Given the description of an element on the screen output the (x, y) to click on. 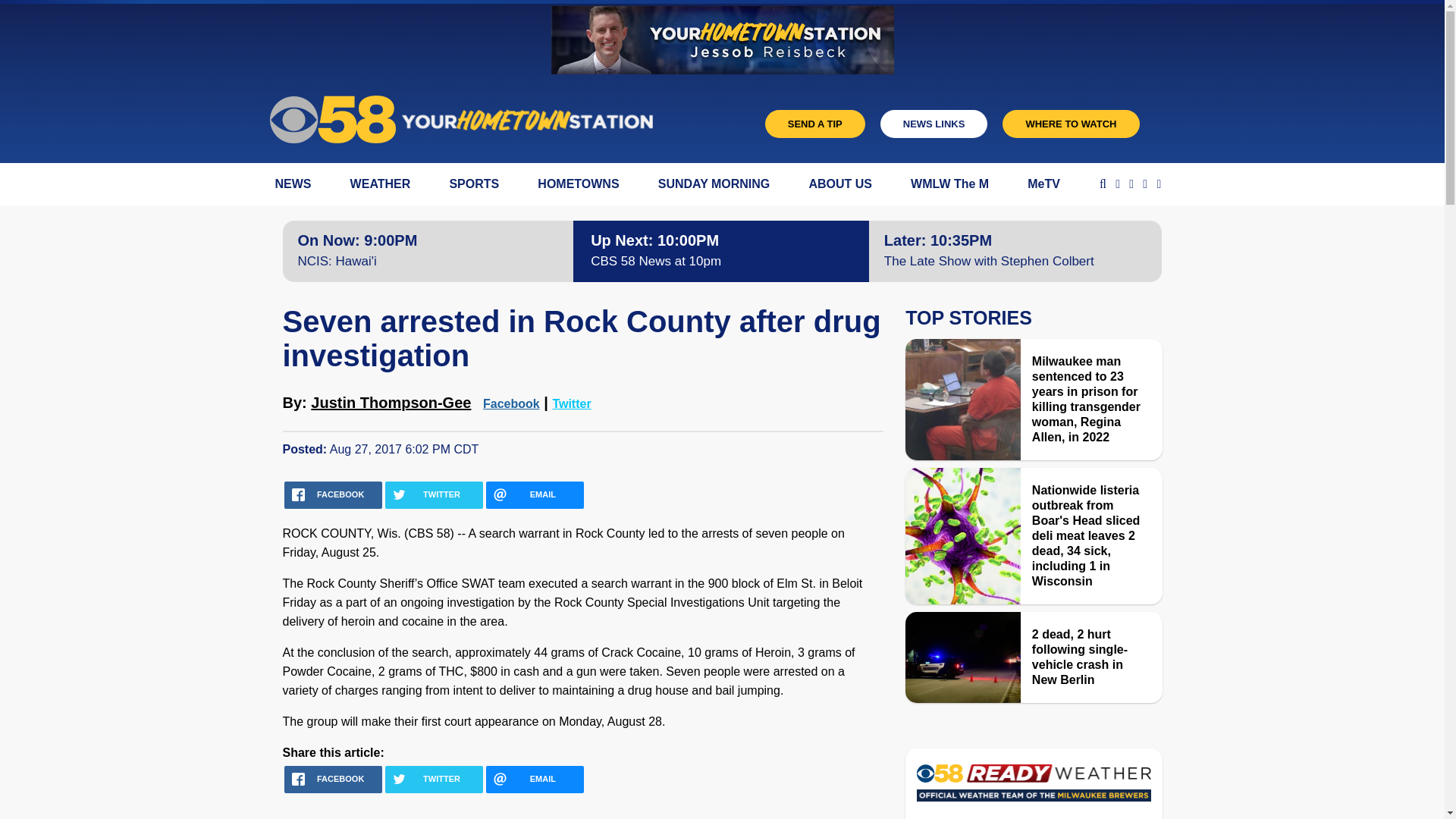
Weather (1033, 787)
